Given the description of an element on the screen output the (x, y) to click on. 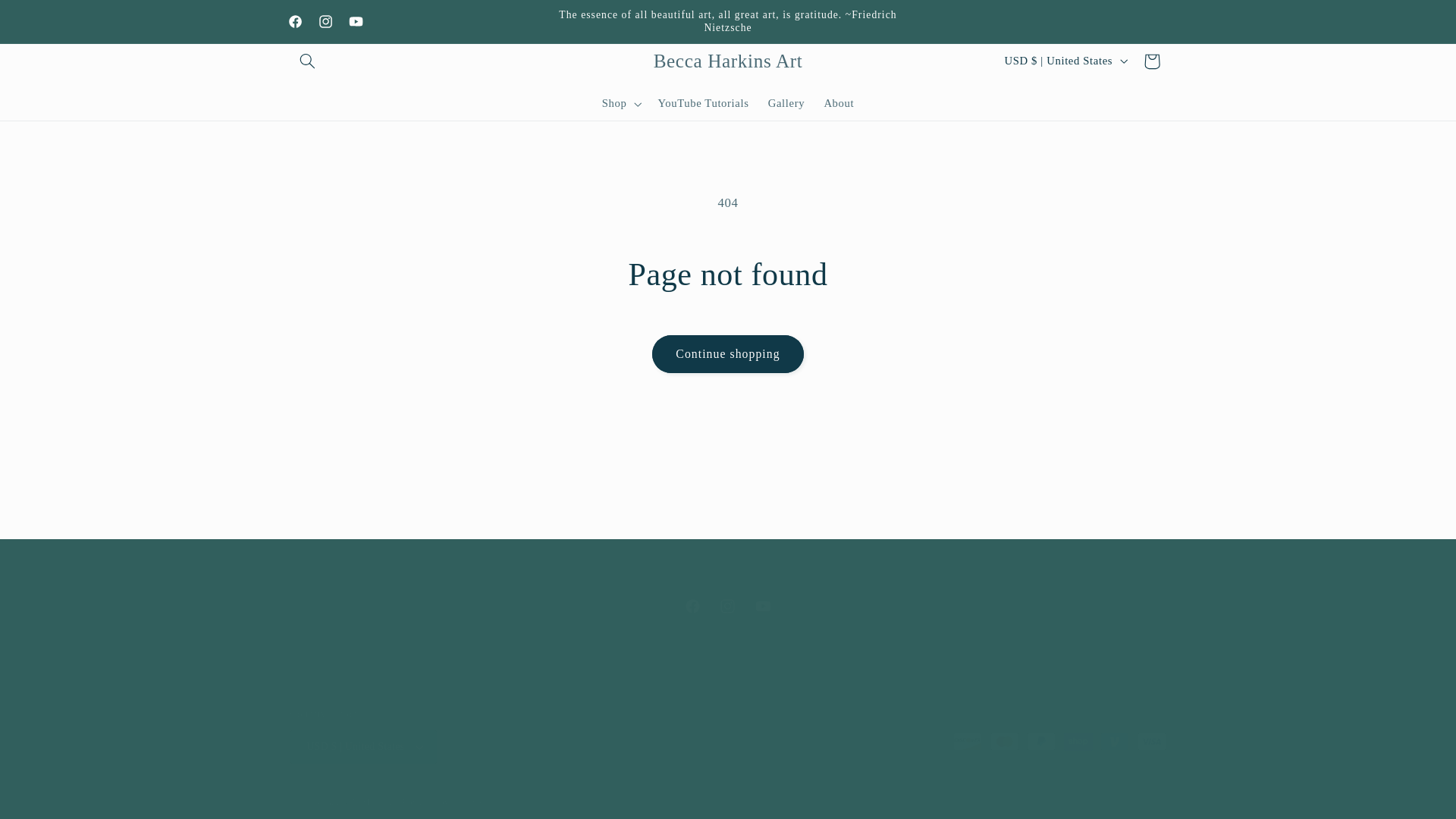
Cart (1151, 61)
Instagram (325, 20)
Gallery (785, 103)
Continue shopping (727, 353)
Becca Harkins Art (727, 605)
Facebook (361, 801)
Powered by Shopify (296, 20)
Instagram (443, 801)
Skip to content (727, 605)
About (48, 18)
Becca Harkins Art (838, 103)
YouTube Tutorials (728, 60)
YouTube (702, 103)
Facebook (762, 605)
